Given the description of an element on the screen output the (x, y) to click on. 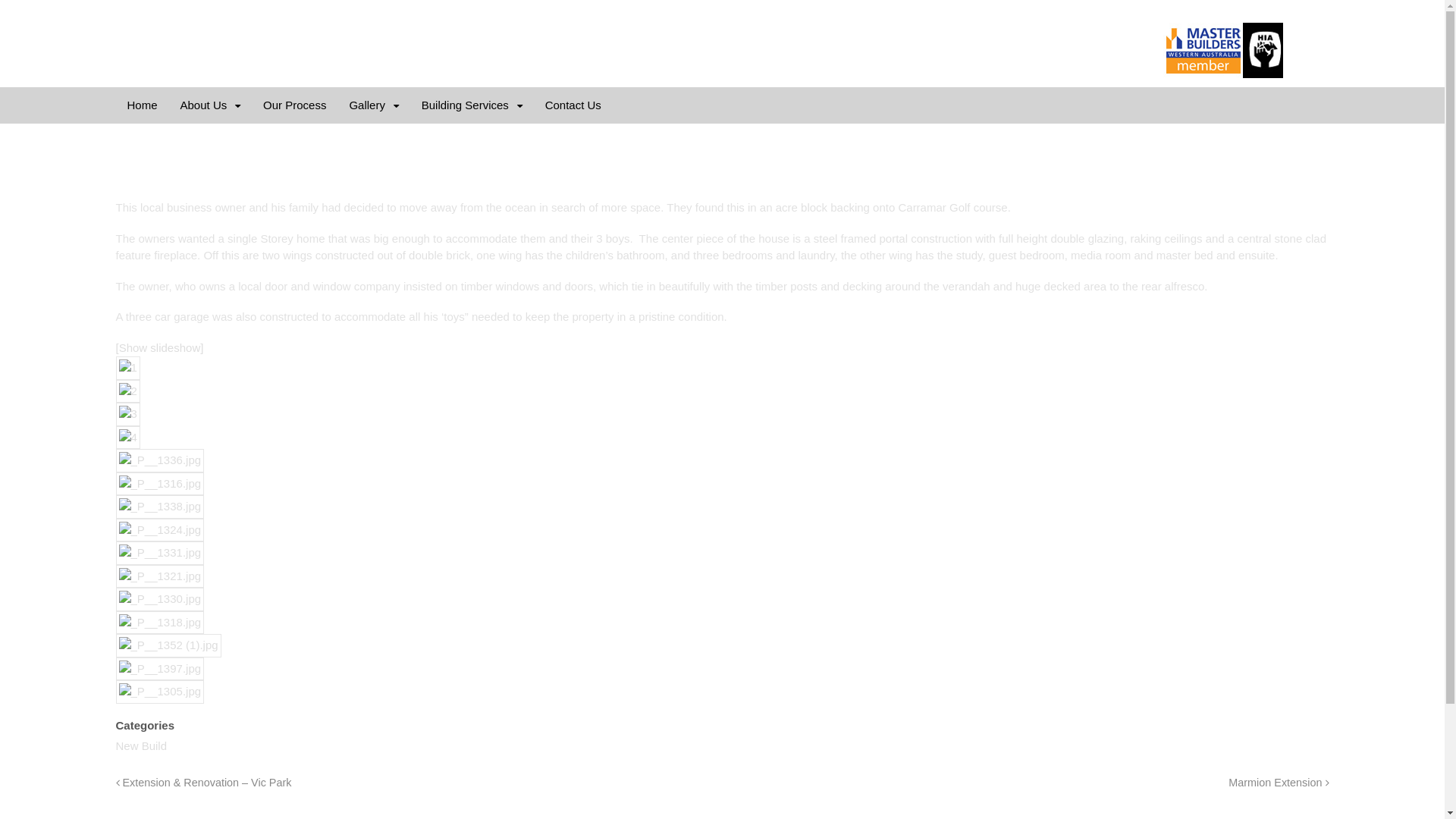
_P__1324.jpg Element type: hover (159, 530)
Marmion Extension Element type: text (1278, 782)
_P__1397.jpg Element type: hover (159, 668)
_P__1316.jpg Element type: hover (159, 483)
_P__1305.jpg Element type: hover (159, 691)
Contact Us Element type: text (572, 105)
_P__1318.jpg Element type: hover (159, 622)
Our Process Element type: text (294, 105)
New Build Element type: text (140, 745)
4 Element type: hover (127, 437)
_P__1336.jpg Element type: hover (159, 460)
1 Element type: hover (127, 367)
_P__1352 (1).jpg Element type: hover (167, 645)
2 Element type: hover (127, 390)
_P__1331.jpg Element type: hover (159, 552)
3 Element type: hover (127, 414)
_P__1330.jpg Element type: hover (159, 599)
Home Element type: text (141, 105)
Gallery Element type: text (373, 105)
[Show slideshow] Element type: text (159, 347)
_P__1321.jpg Element type: hover (159, 575)
_P__1338.jpg Element type: hover (159, 506)
About Us Element type: text (210, 105)
Building Services Element type: text (471, 105)
